Given the description of an element on the screen output the (x, y) to click on. 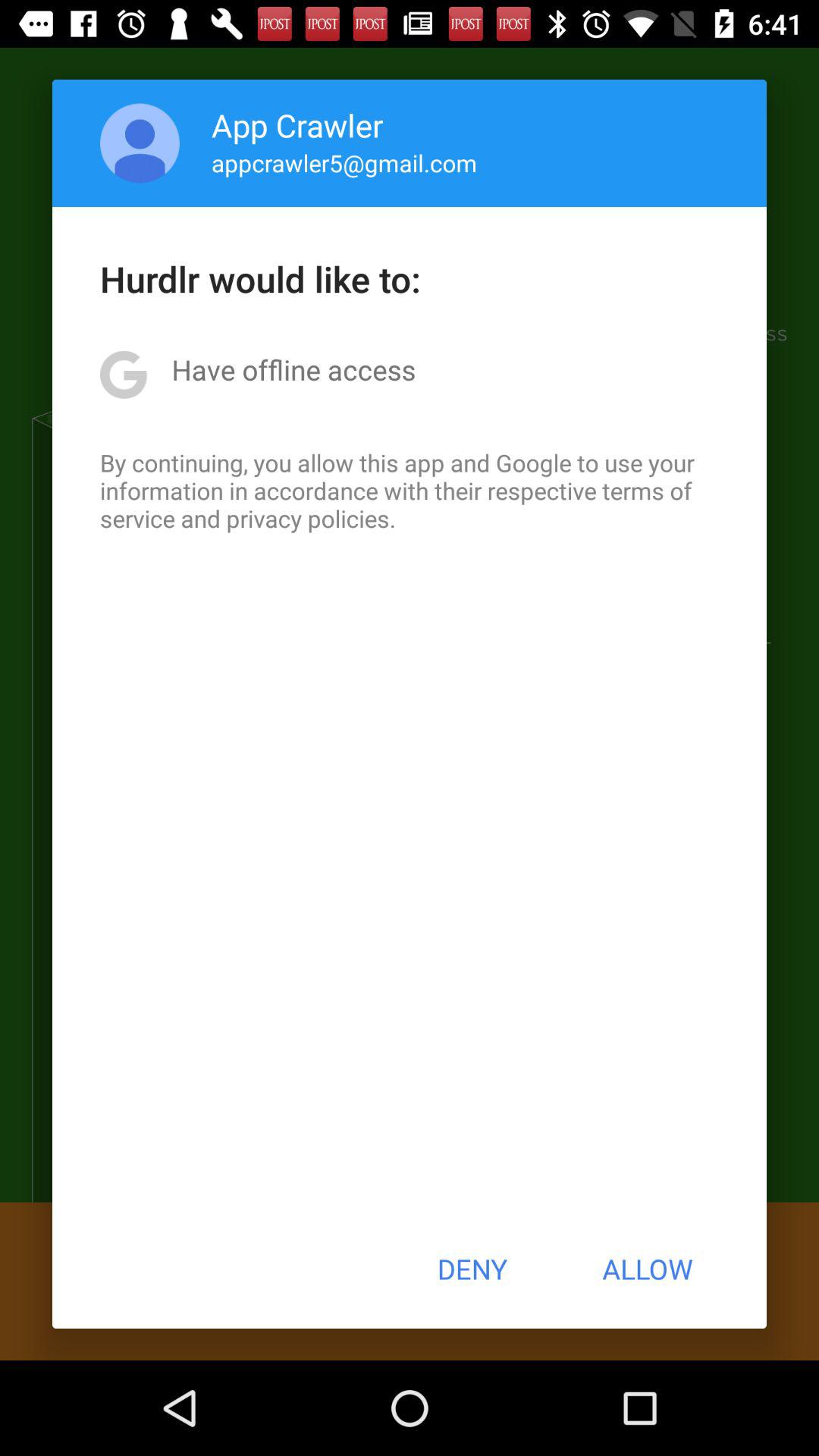
launch the item to the left of app crawler (139, 143)
